Given the description of an element on the screen output the (x, y) to click on. 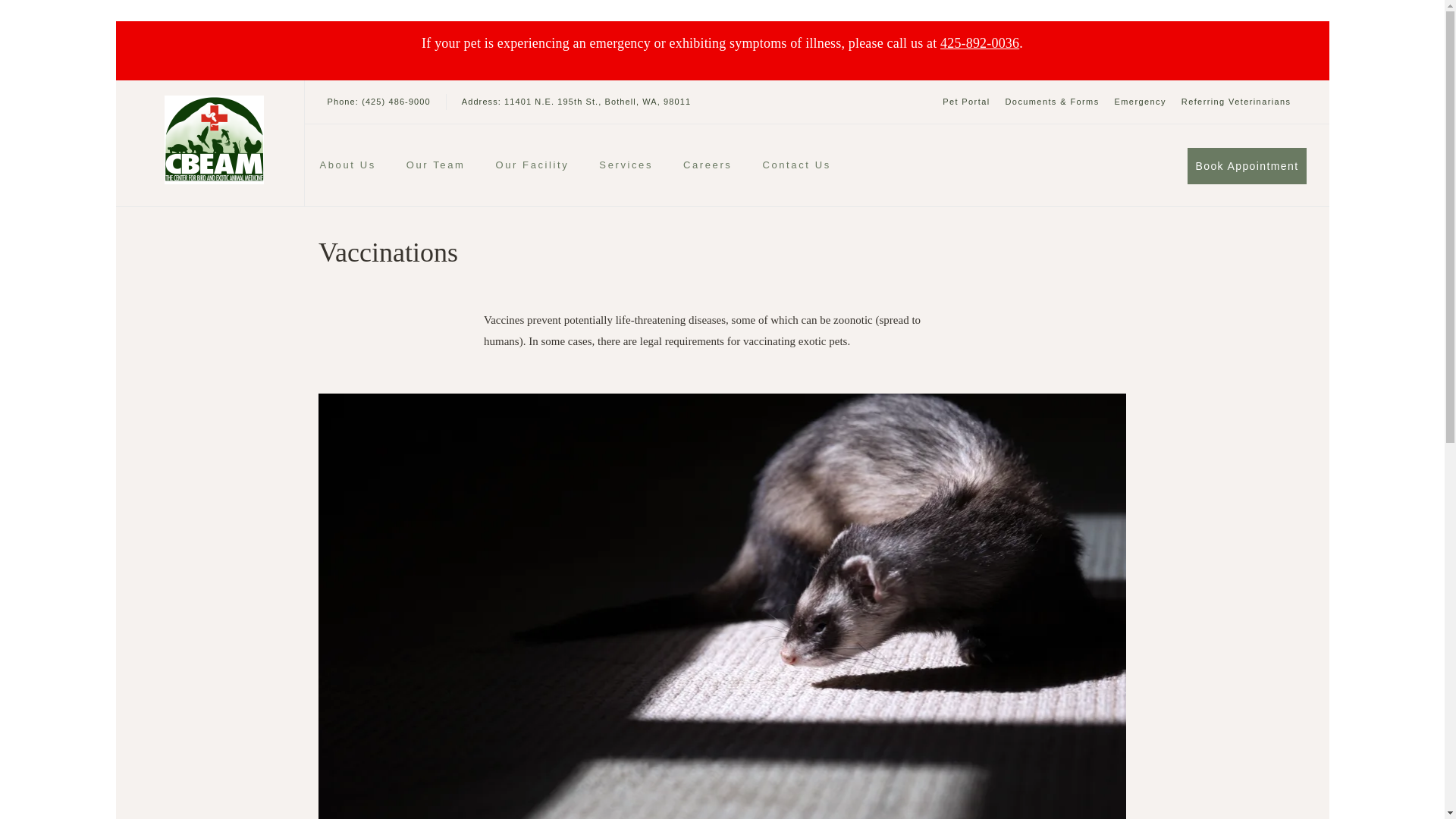
Our Team (435, 168)
Emergency (1140, 102)
Careers (707, 168)
Address: 11401 N.E. 195th St., Bothell, WA, 98011 (575, 101)
Services (625, 168)
Pet Portal (966, 102)
Referring Veterinarians (1235, 102)
Services (625, 168)
Pet Portal (966, 102)
Contact Us (795, 168)
About Us (347, 168)
Our Team (435, 168)
Book Appointment (1247, 165)
Our Facility (532, 168)
Logo (213, 139)
